Given the description of an element on the screen output the (x, y) to click on. 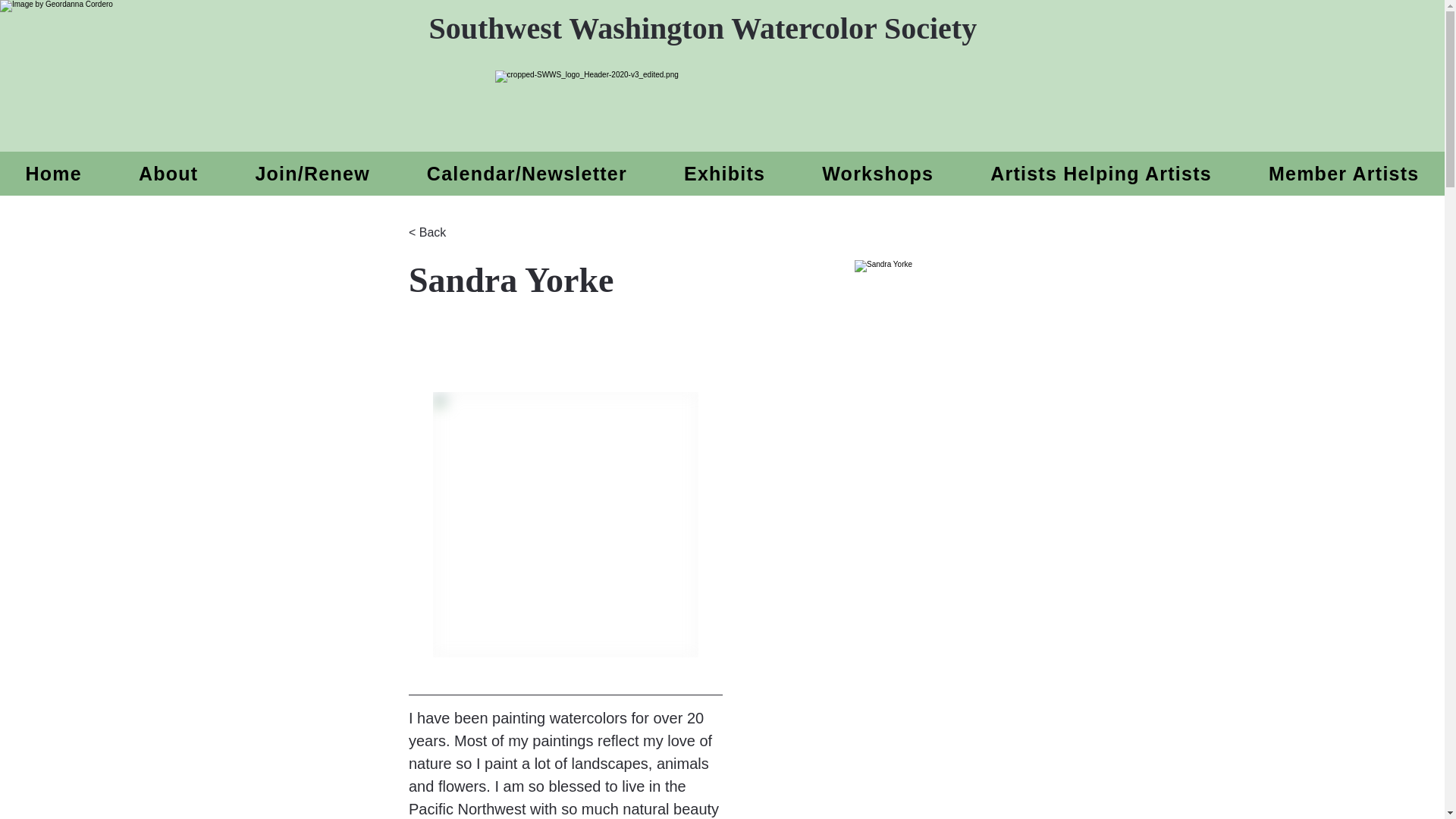
winter-AM-lewisville-park-300x239.jpeg (1002, 408)
About (167, 173)
Southwest Washington Watercolor Society (702, 28)
Home (53, 173)
